Given the description of an element on the screen output the (x, y) to click on. 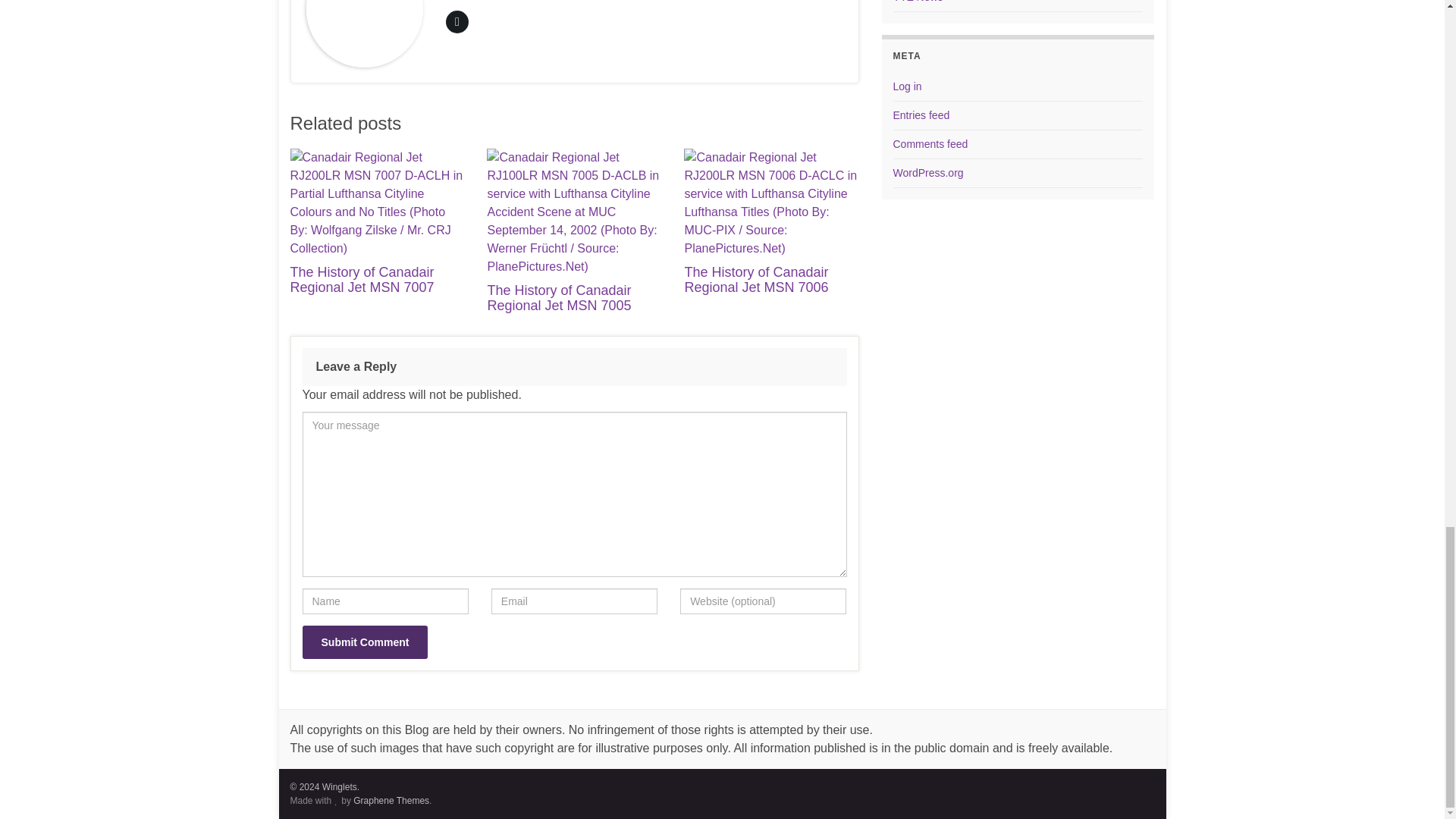
Submit Comment (364, 642)
The History of Canadair Regional Jet MSN 7005 (558, 297)
The History of Canadair Regional Jet MSN 7007 (361, 279)
The History of Canadair Regional Jet MSN 7006 (756, 279)
Submit Comment (364, 642)
